Given the description of an element on the screen output the (x, y) to click on. 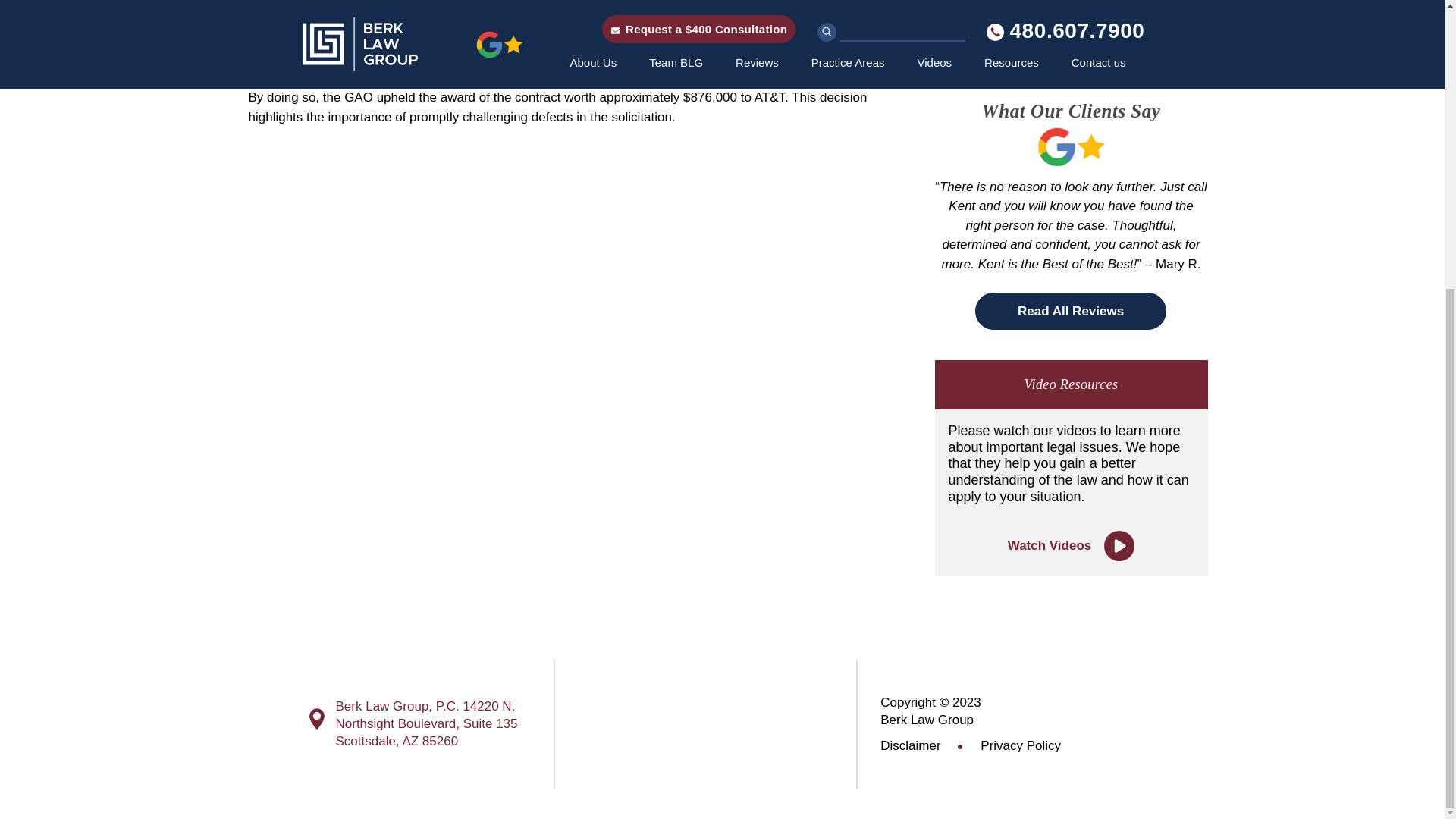
Request a Consultation (1070, 38)
